Given the description of an element on the screen output the (x, y) to click on. 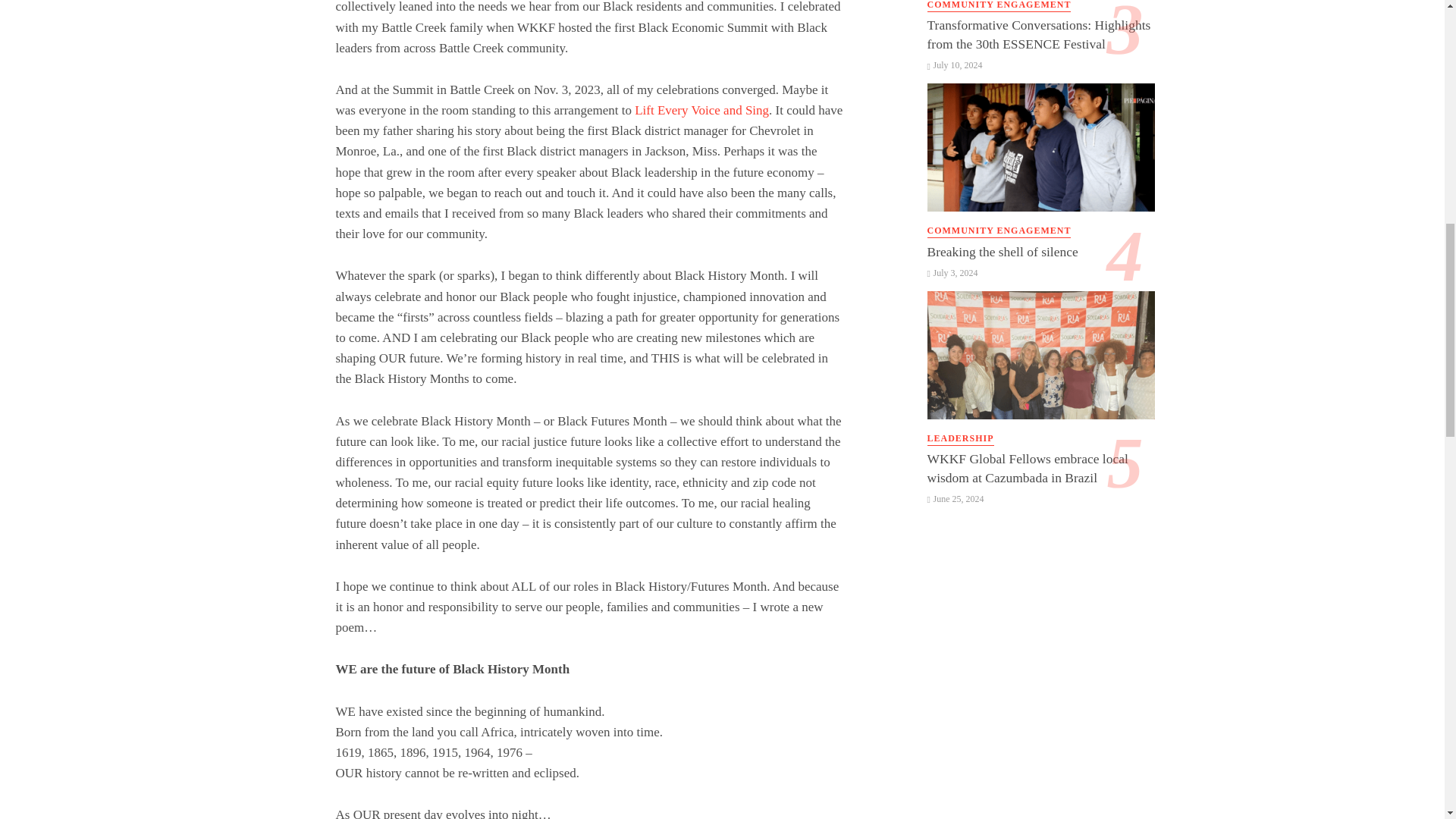
July 10, 2024 at 12:20 pm (953, 64)
